Given the description of an element on the screen output the (x, y) to click on. 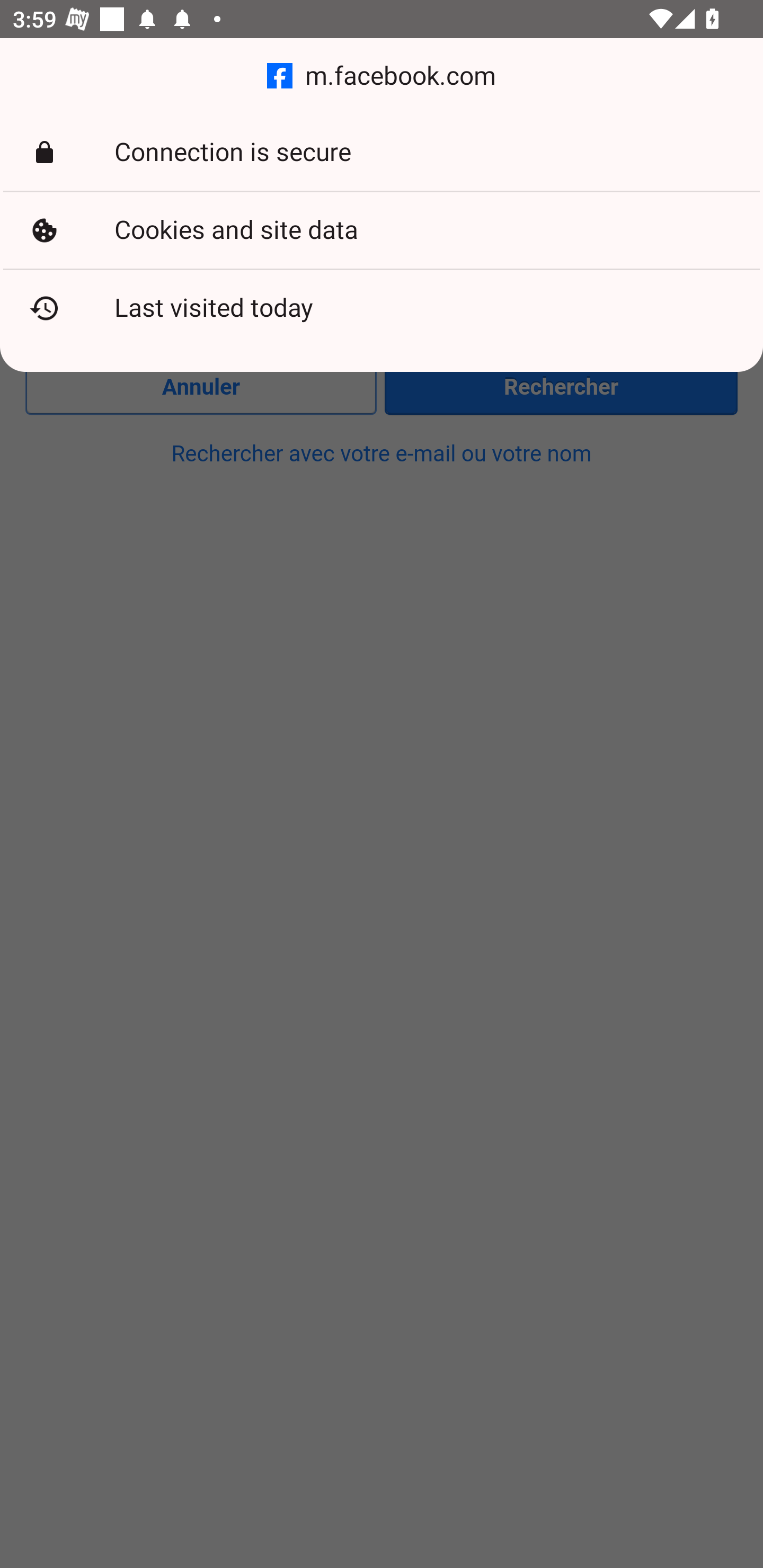
m.facebook.com (381, 75)
Connection is secure (381, 152)
Cookies and site data (381, 230)
Last visited today (381, 307)
